Given the description of an element on the screen output the (x, y) to click on. 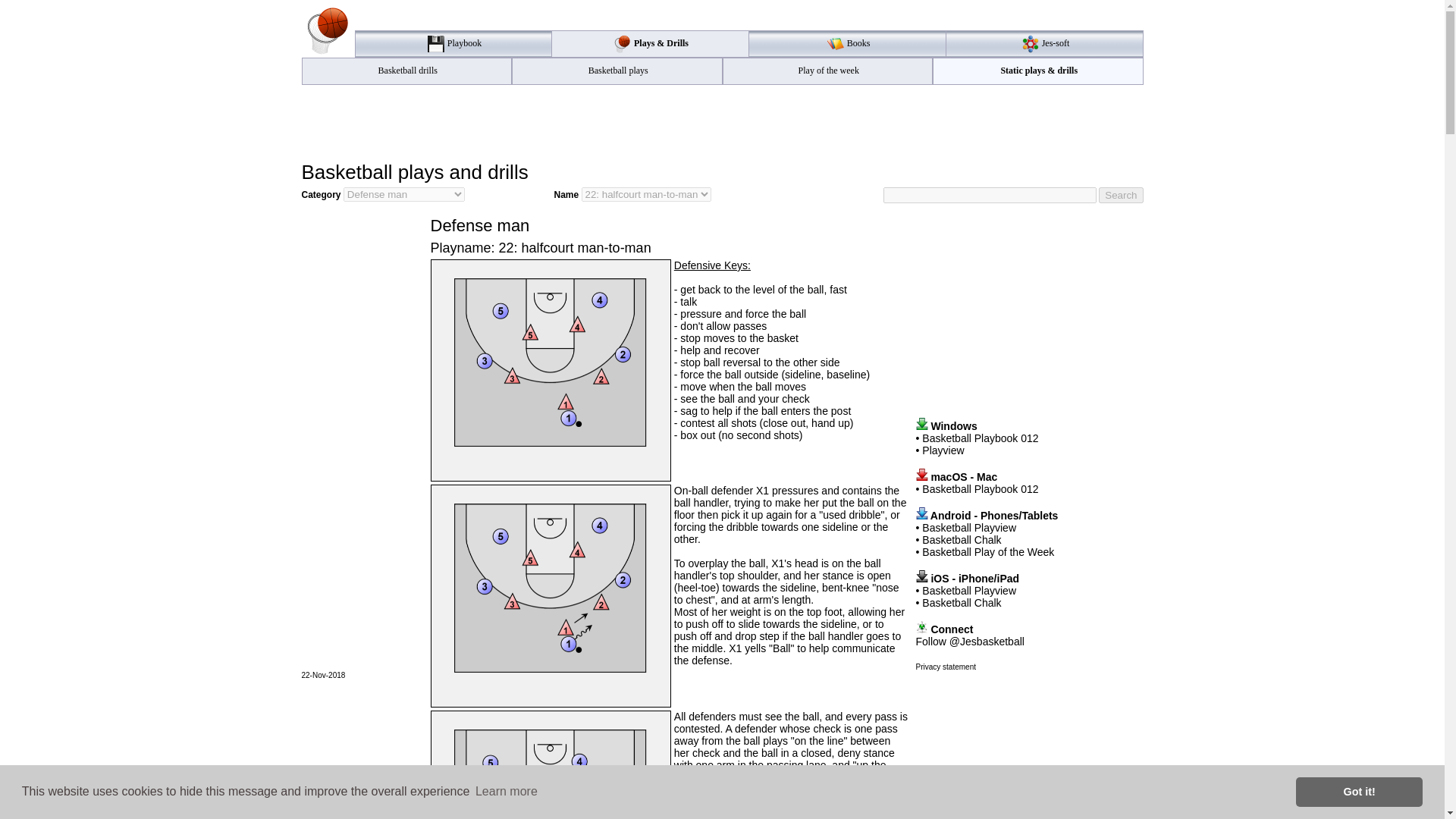
Learn more (506, 791)
Basketball Playbook 012 (979, 438)
Advertisement (1028, 309)
Basketball Chalk (961, 539)
Basketball Chalk (961, 603)
Search (1120, 195)
Advertisement (722, 121)
Basketball Playview (968, 590)
Privacy statement (945, 666)
Basketball Playview (968, 527)
Got it! (1358, 791)
Basketball Play of the Week (987, 551)
Basketball Playbook 012 (979, 489)
Search (1120, 195)
Playview (942, 450)
